Given the description of an element on the screen output the (x, y) to click on. 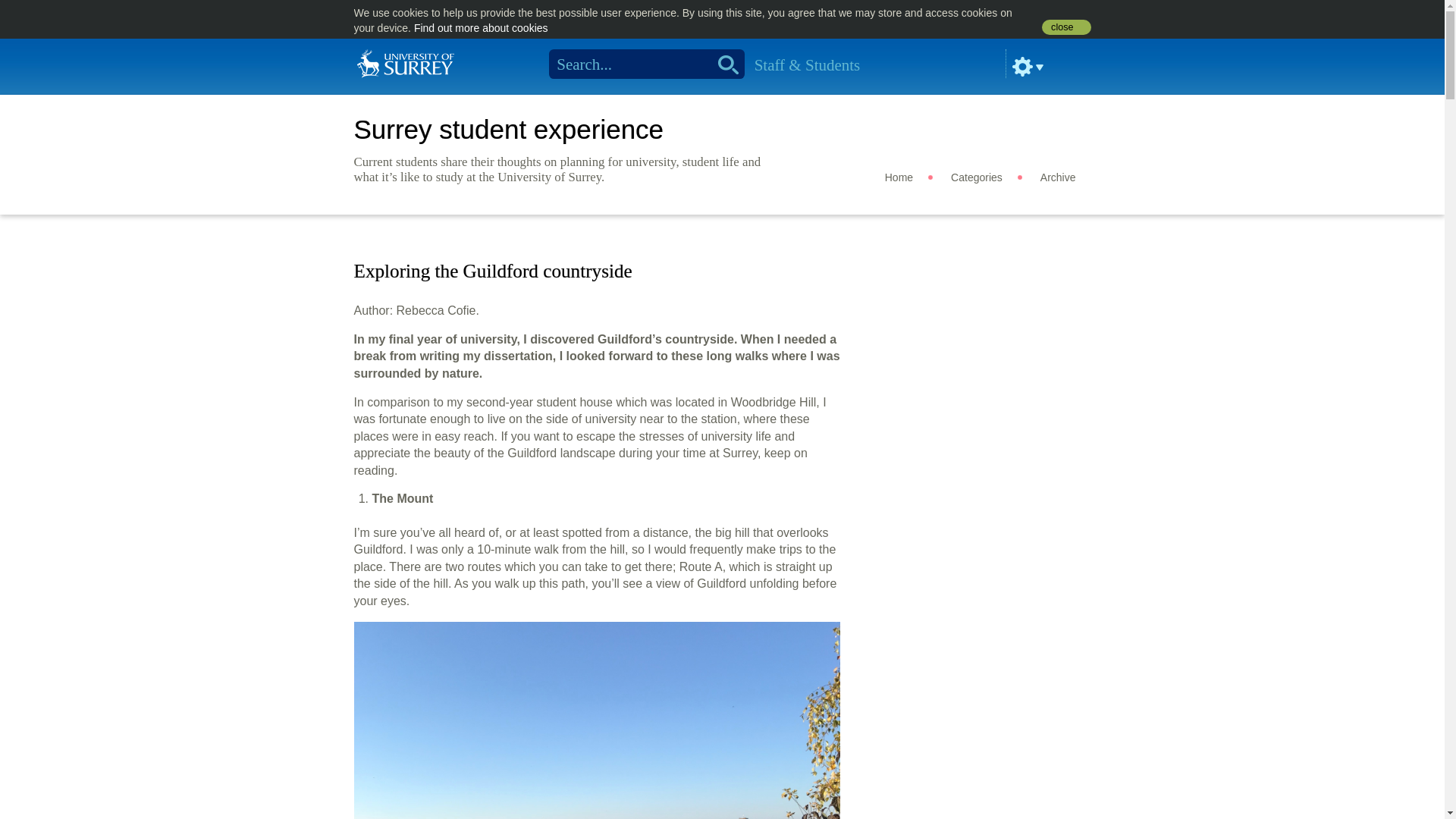
Surrey student experience (508, 129)
Search (722, 64)
Categories (976, 177)
Archive (1058, 177)
close (1066, 27)
Home (898, 177)
Find out more about cookies (480, 28)
Home (405, 62)
